Given the description of an element on the screen output the (x, y) to click on. 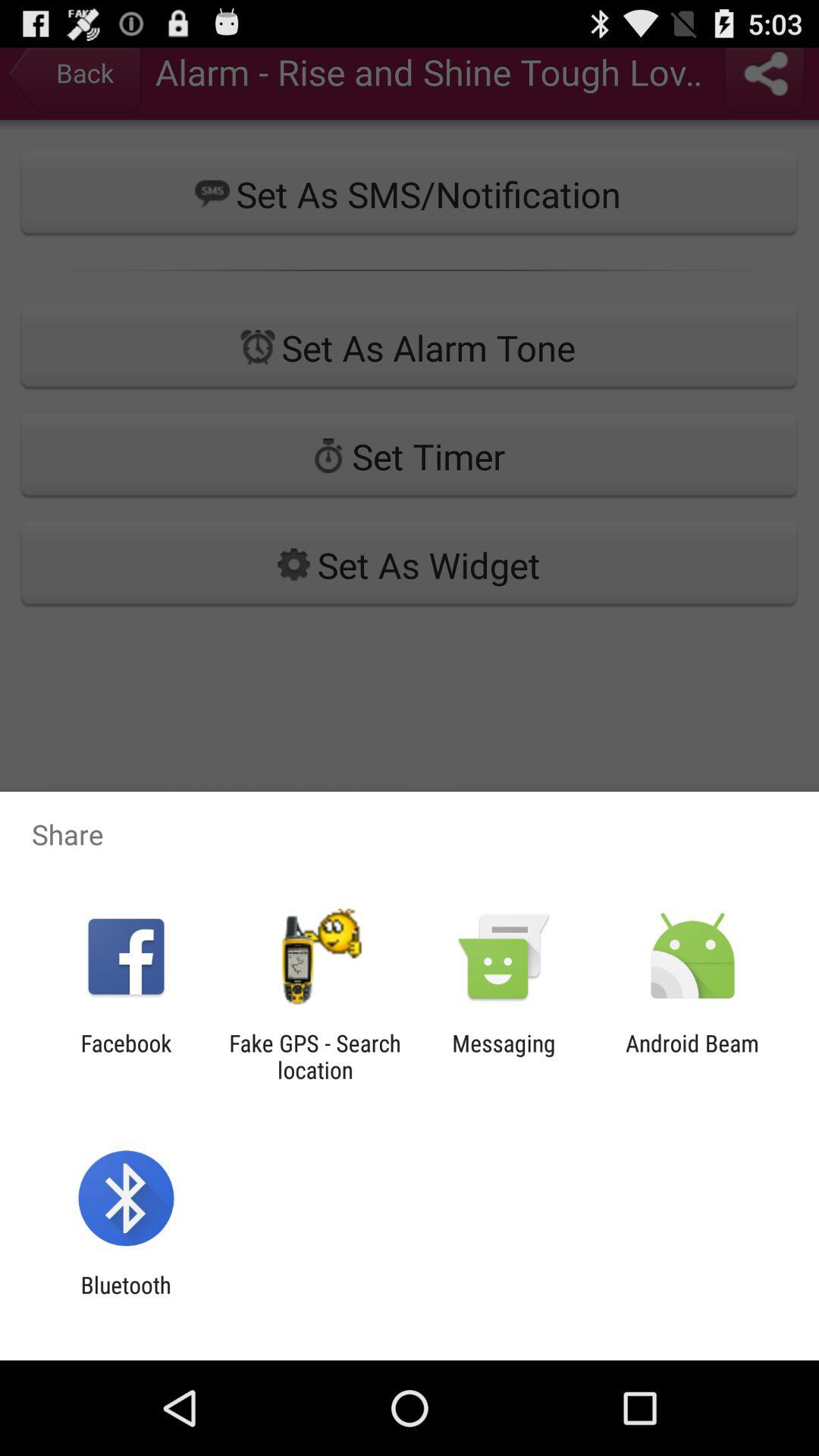
launch android beam app (692, 1056)
